Given the description of an element on the screen output the (x, y) to click on. 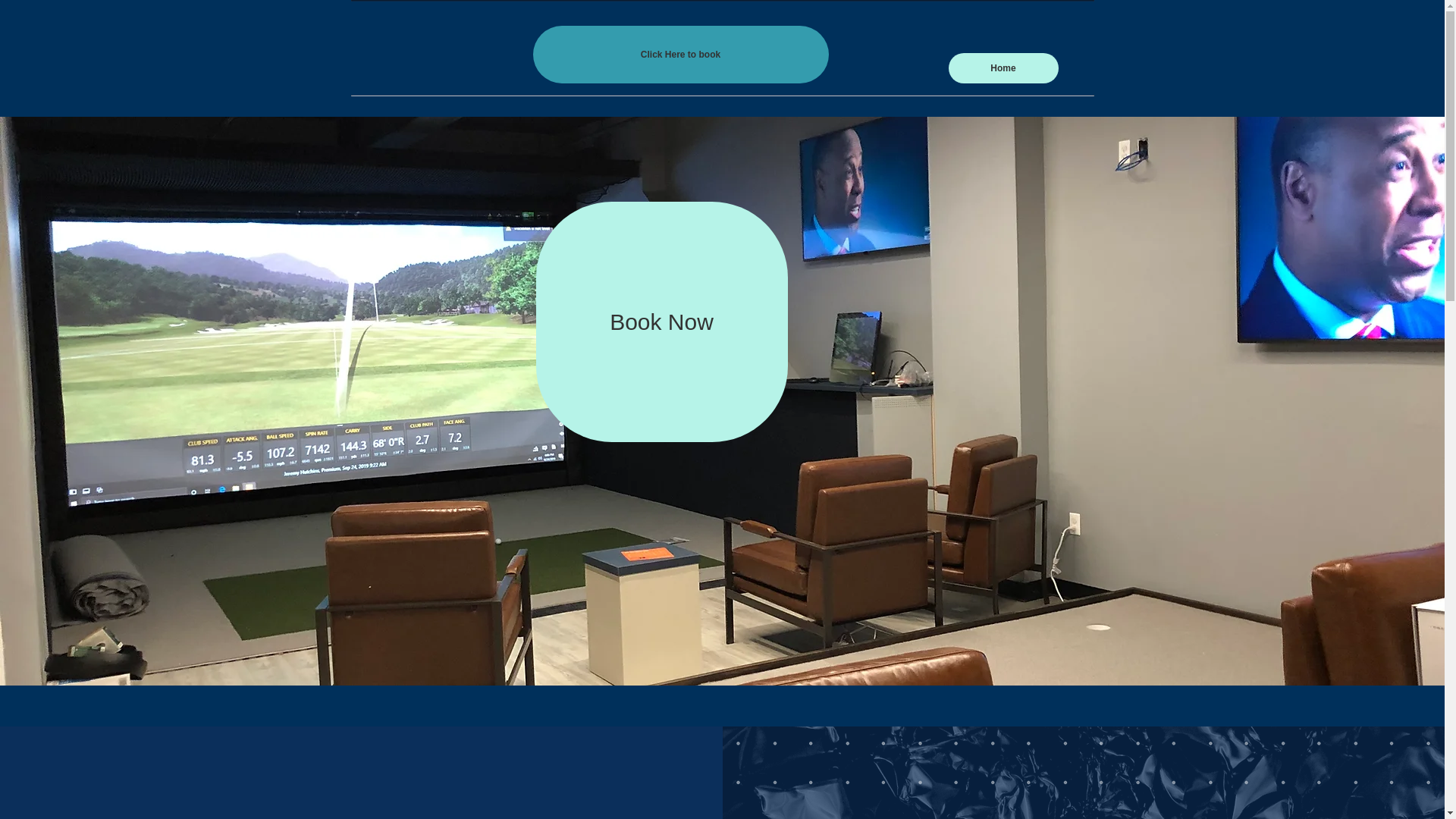
Home (1002, 68)
Click Here to book (680, 54)
Book Now (661, 321)
